Given the description of an element on the screen output the (x, y) to click on. 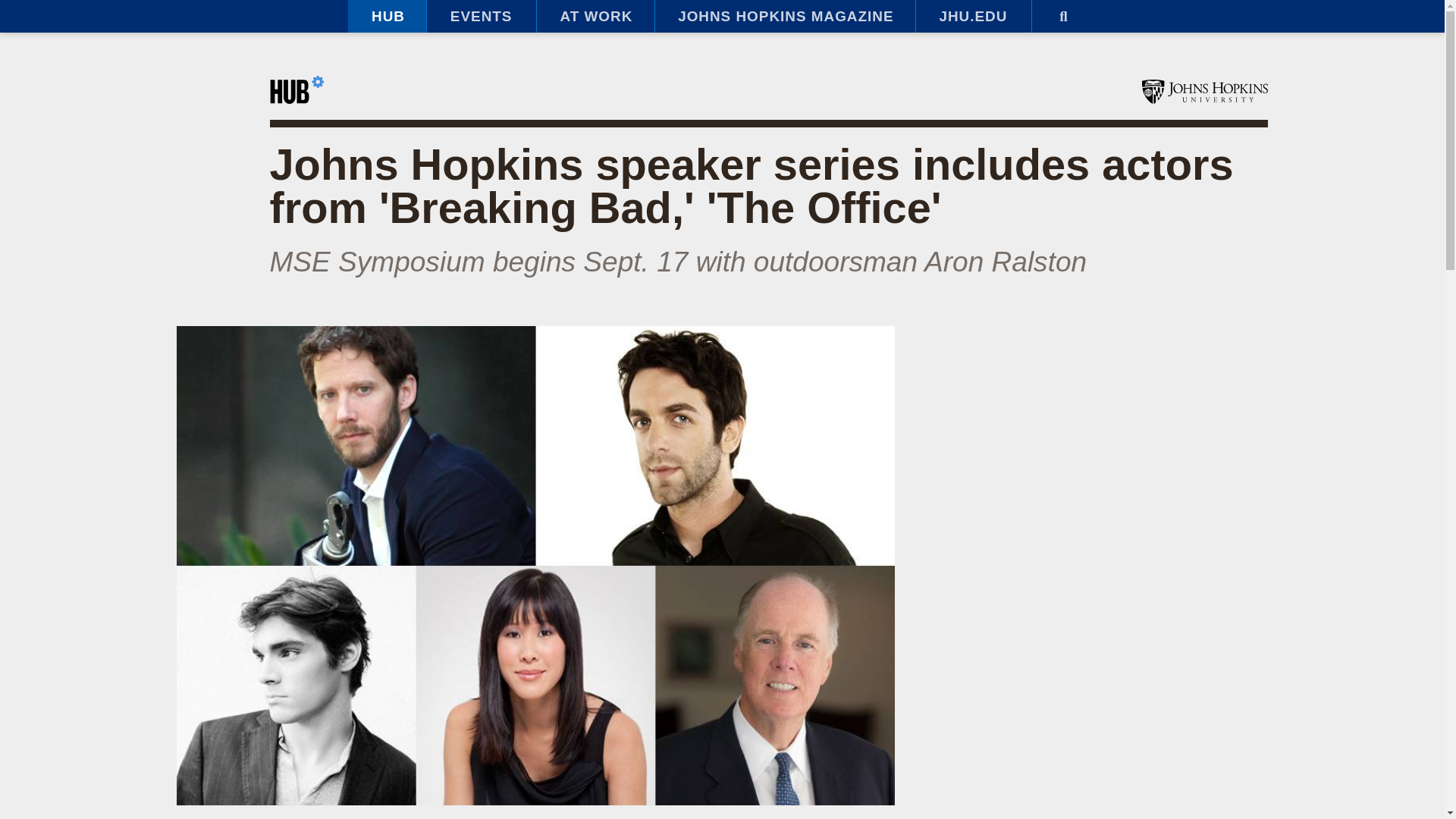
AT WORK (594, 16)
Johns Hopkins University (1204, 91)
EVENTS (480, 16)
JHU.EDU (972, 16)
HUB (386, 16)
JOHNS HOPKINS MAGAZINE (784, 16)
